Given the description of an element on the screen output the (x, y) to click on. 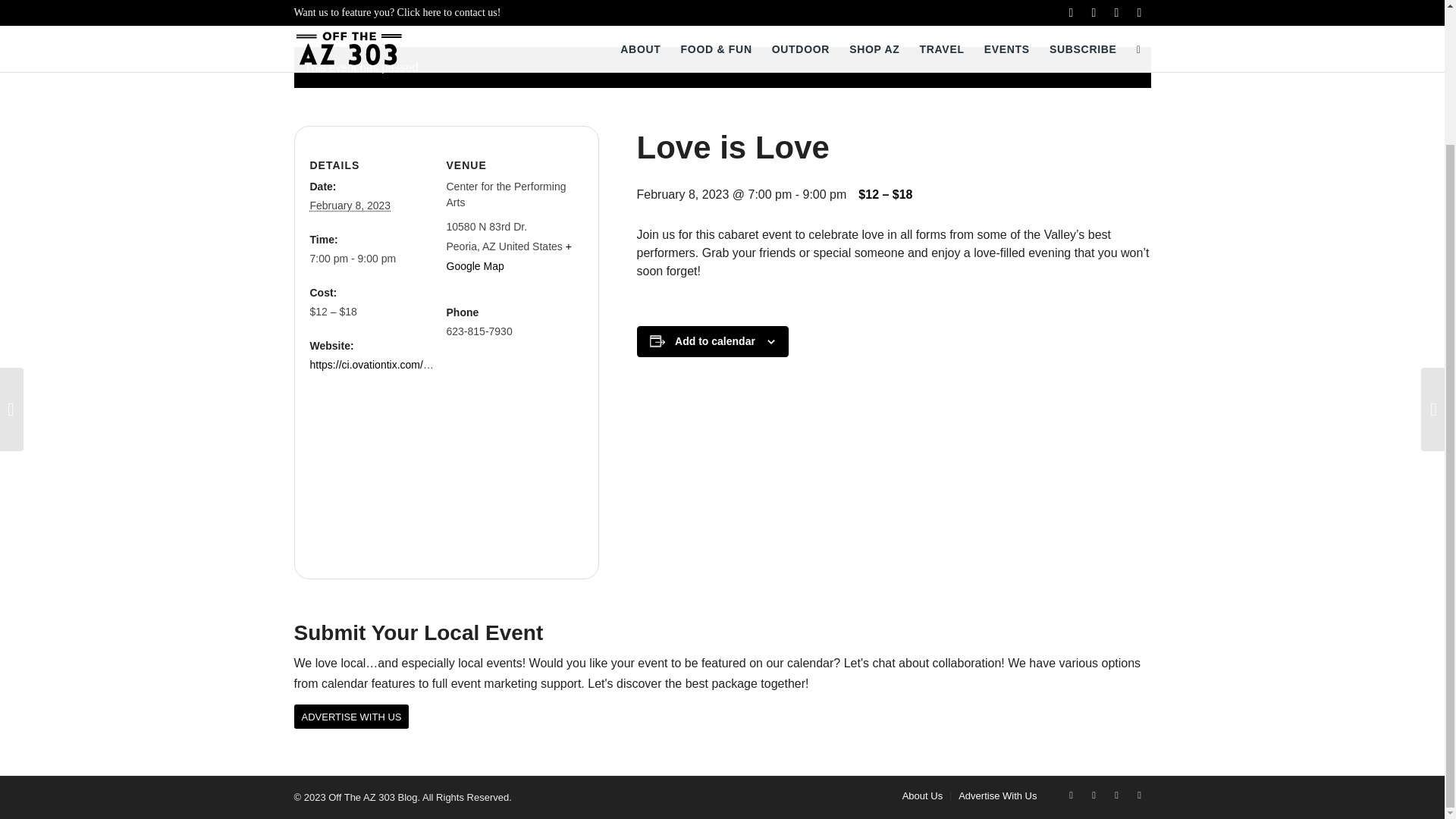
Add to calendar (715, 340)
Facebook (1071, 794)
2023-02-08 (371, 258)
Click to view a Google Map (507, 255)
2023-02-08 (349, 205)
